Given the description of an element on the screen output the (x, y) to click on. 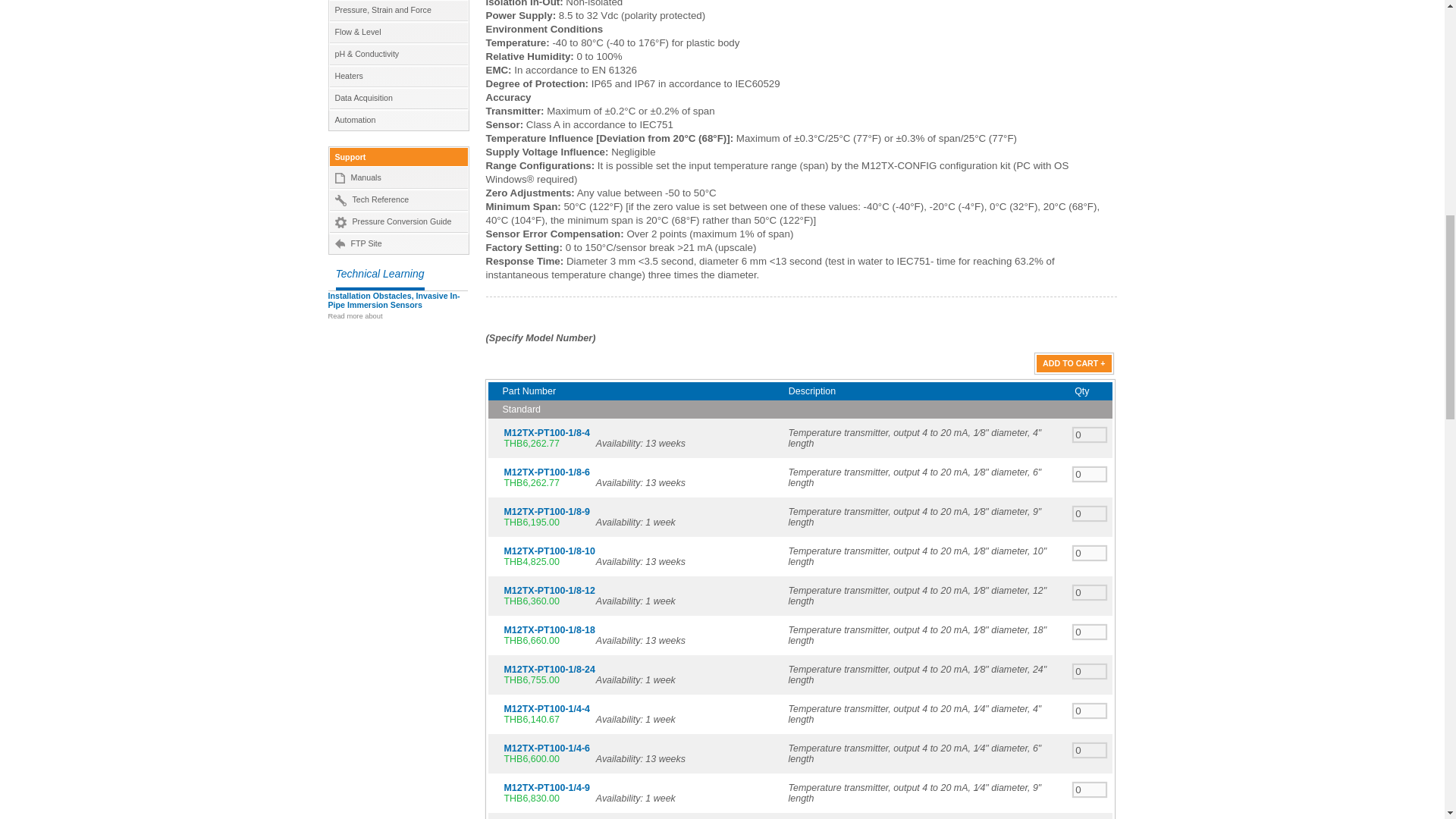
0 (1089, 434)
0 (1089, 631)
0 (1089, 513)
0 (1089, 553)
0 (1089, 749)
0 (1089, 592)
0 (1089, 473)
0 (1089, 710)
0 (1089, 671)
0 (1089, 789)
